Given the description of an element on the screen output the (x, y) to click on. 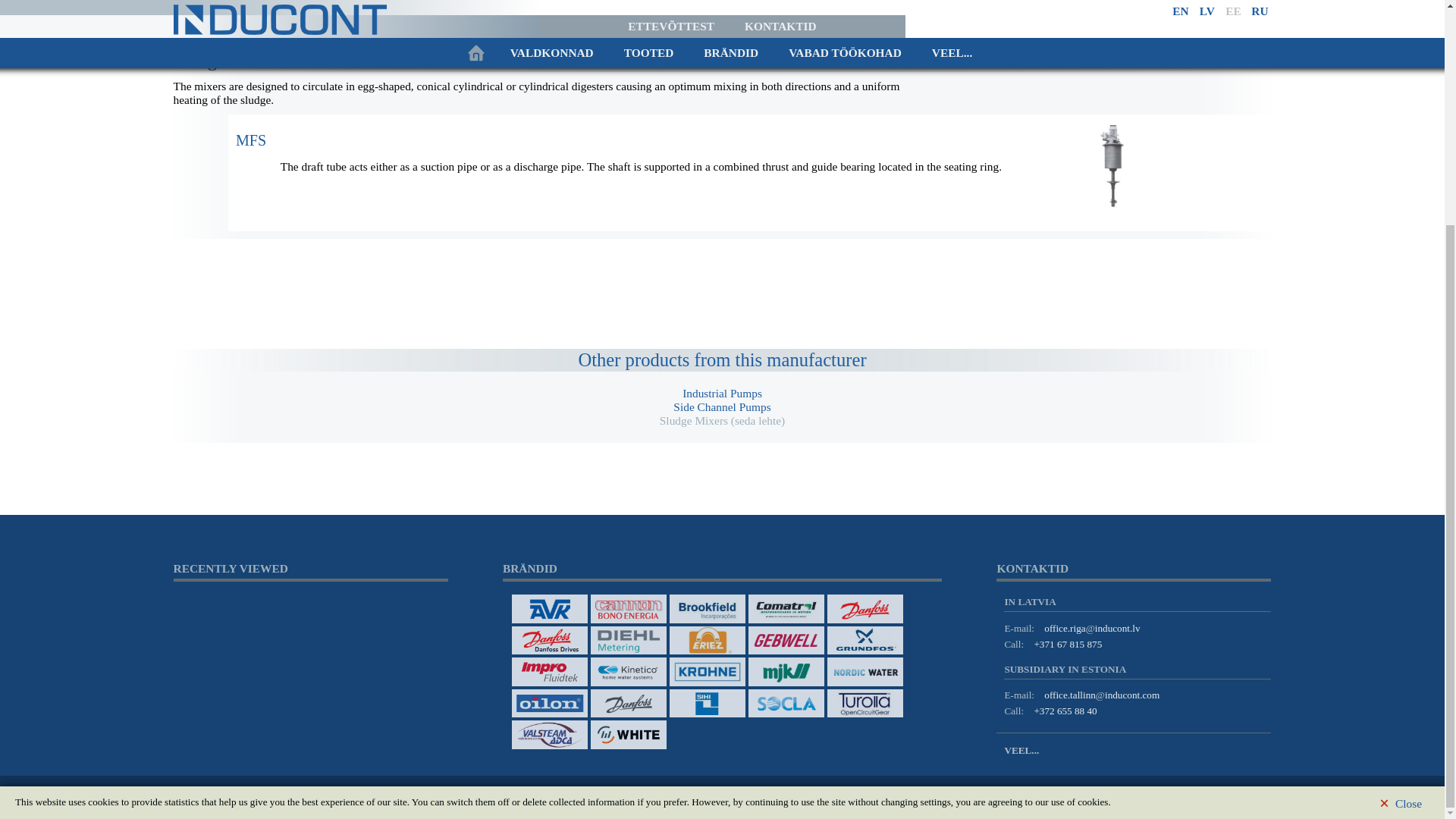
Click to expand (250, 140)
